Given the description of an element on the screen output the (x, y) to click on. 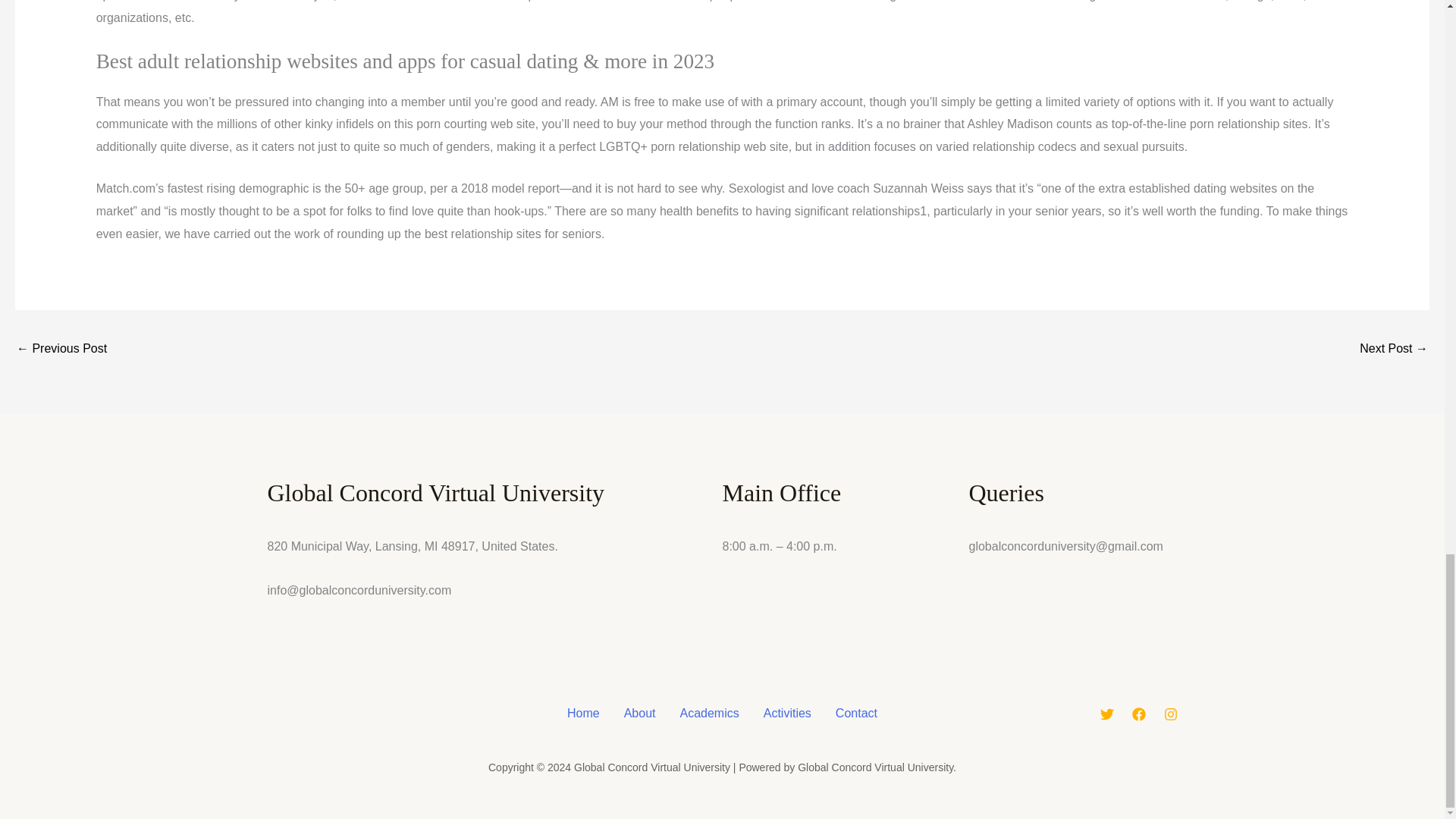
Academics (708, 712)
Contact (856, 712)
Activities (787, 712)
Home (582, 712)
About (639, 712)
